Given the description of an element on the screen output the (x, y) to click on. 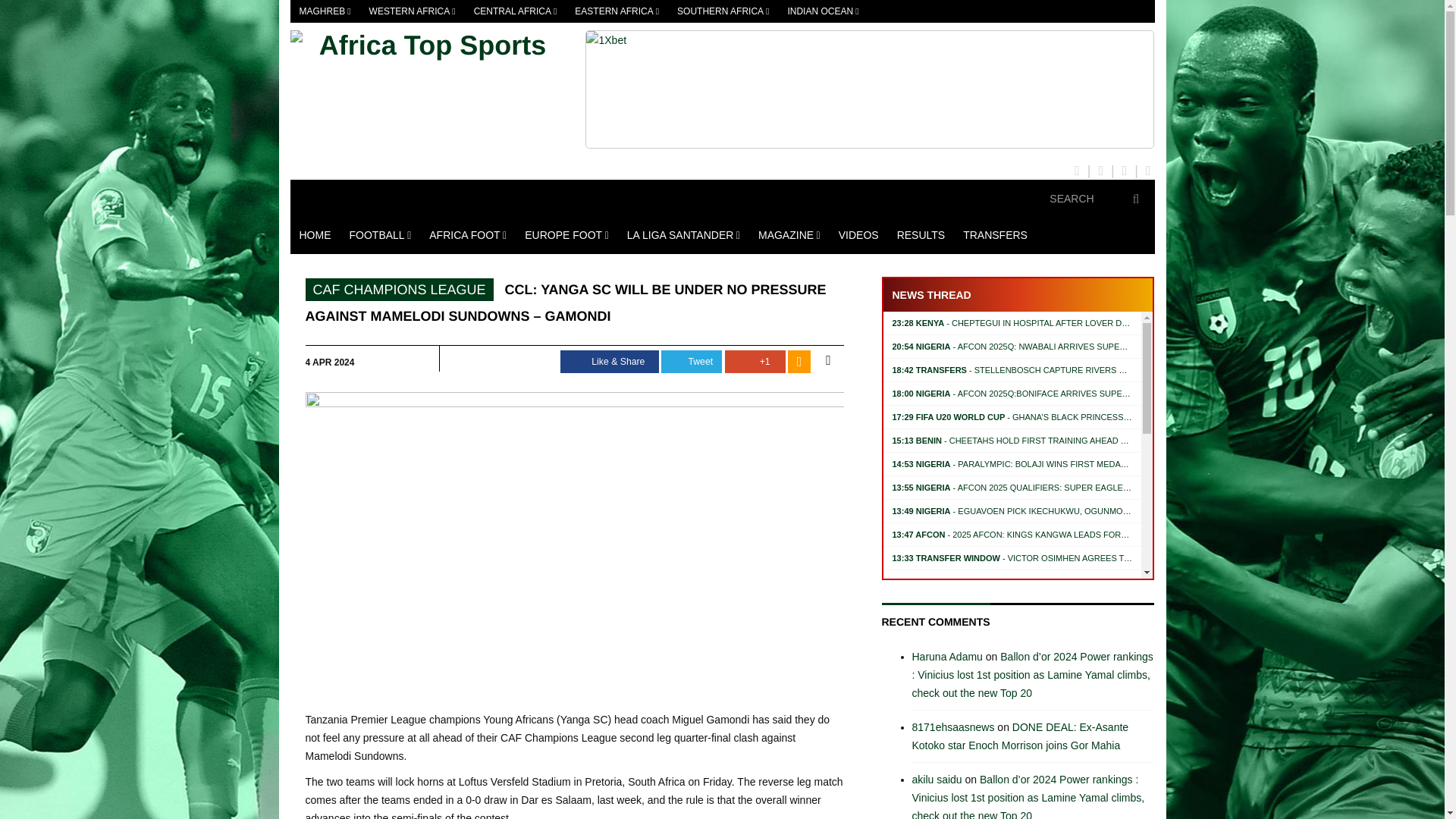
AFCON 2025Q: Nwabali Arrives Super Eagles Camp (1039, 346)
ATS RSS feed (798, 362)
Share on Facebook (609, 361)
Stellenbosch Capture Rivers United Defender Kazie (1057, 369)
EASTERN AFRICA (617, 11)
Share on Twitter (691, 361)
Share on Google Plus (755, 361)
1Xbet (869, 88)
Cheptegui In Hospital After Lover Douse Her With Fuels (1054, 322)
CENTRAL AFRICA (515, 11)
